Given the description of an element on the screen output the (x, y) to click on. 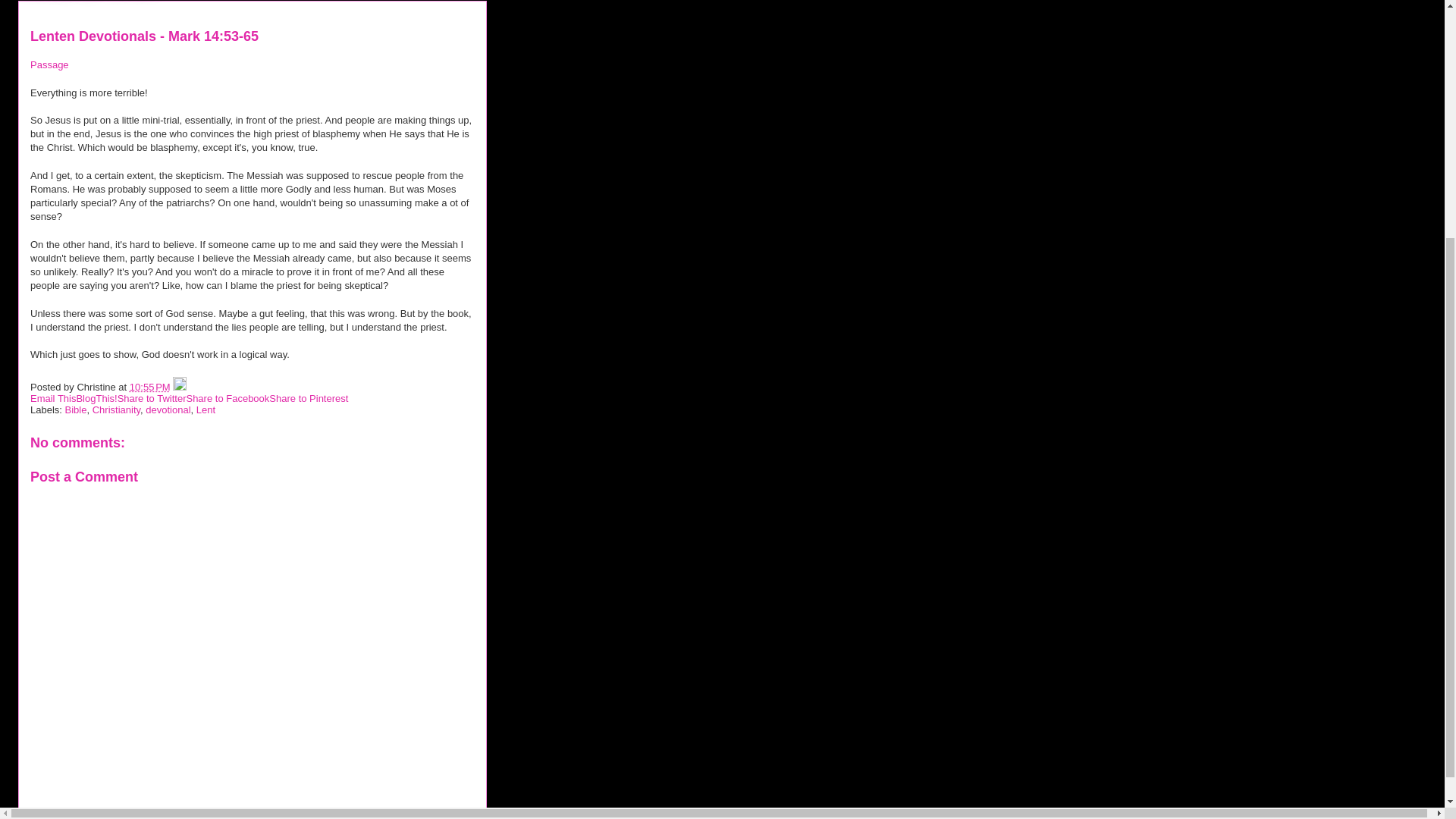
Christianity (116, 409)
Share to Twitter (151, 398)
Email This (52, 398)
Share to Facebook (227, 398)
Edit Post (179, 387)
Lent (205, 409)
BlogThis! (95, 398)
Share to Facebook (227, 398)
Share to Pinterest (308, 398)
